Given the description of an element on the screen output the (x, y) to click on. 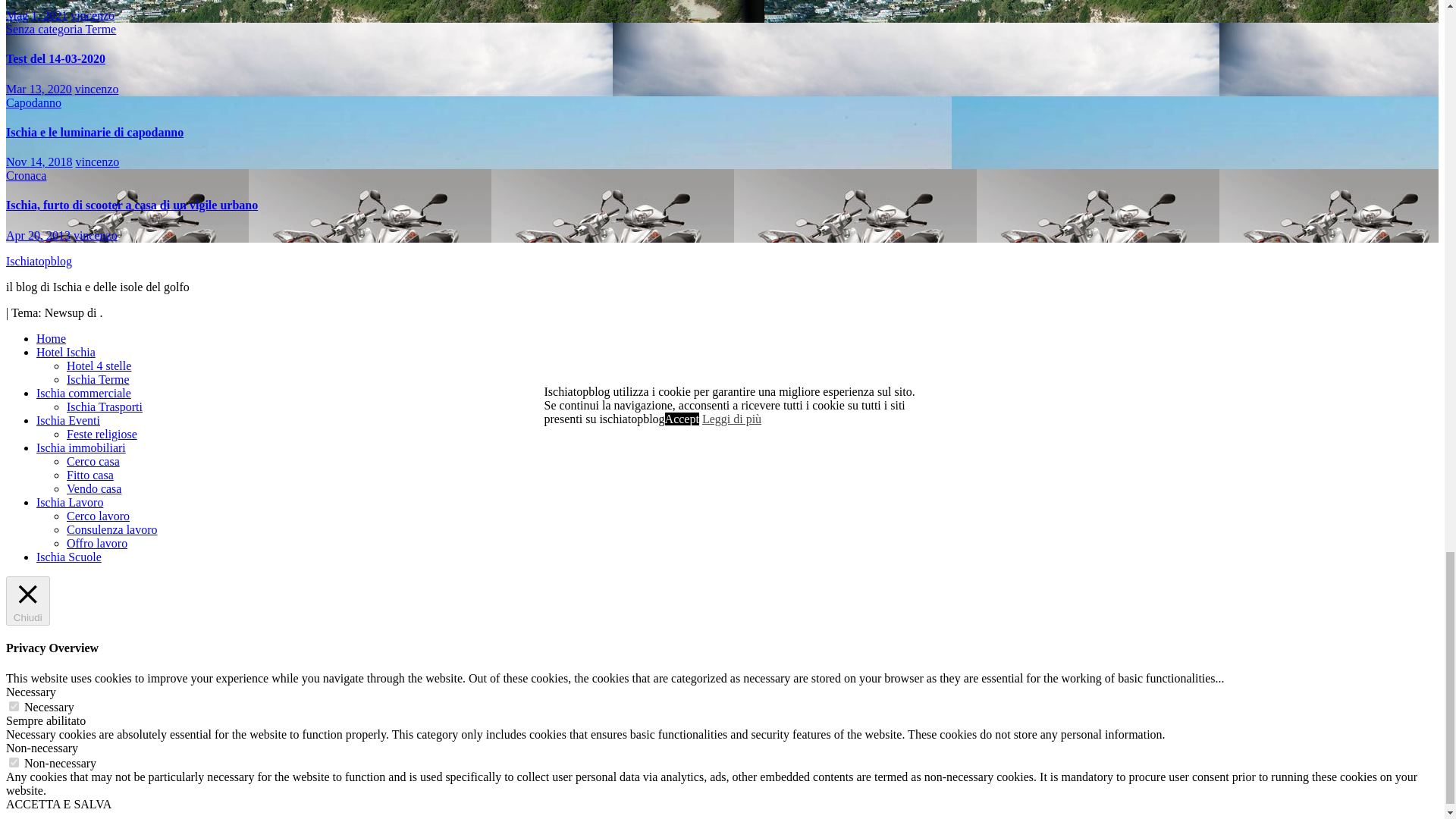
on (13, 706)
Permalink to: Test del 14-03-2020 (54, 58)
on (13, 762)
